Given the description of an element on the screen output the (x, y) to click on. 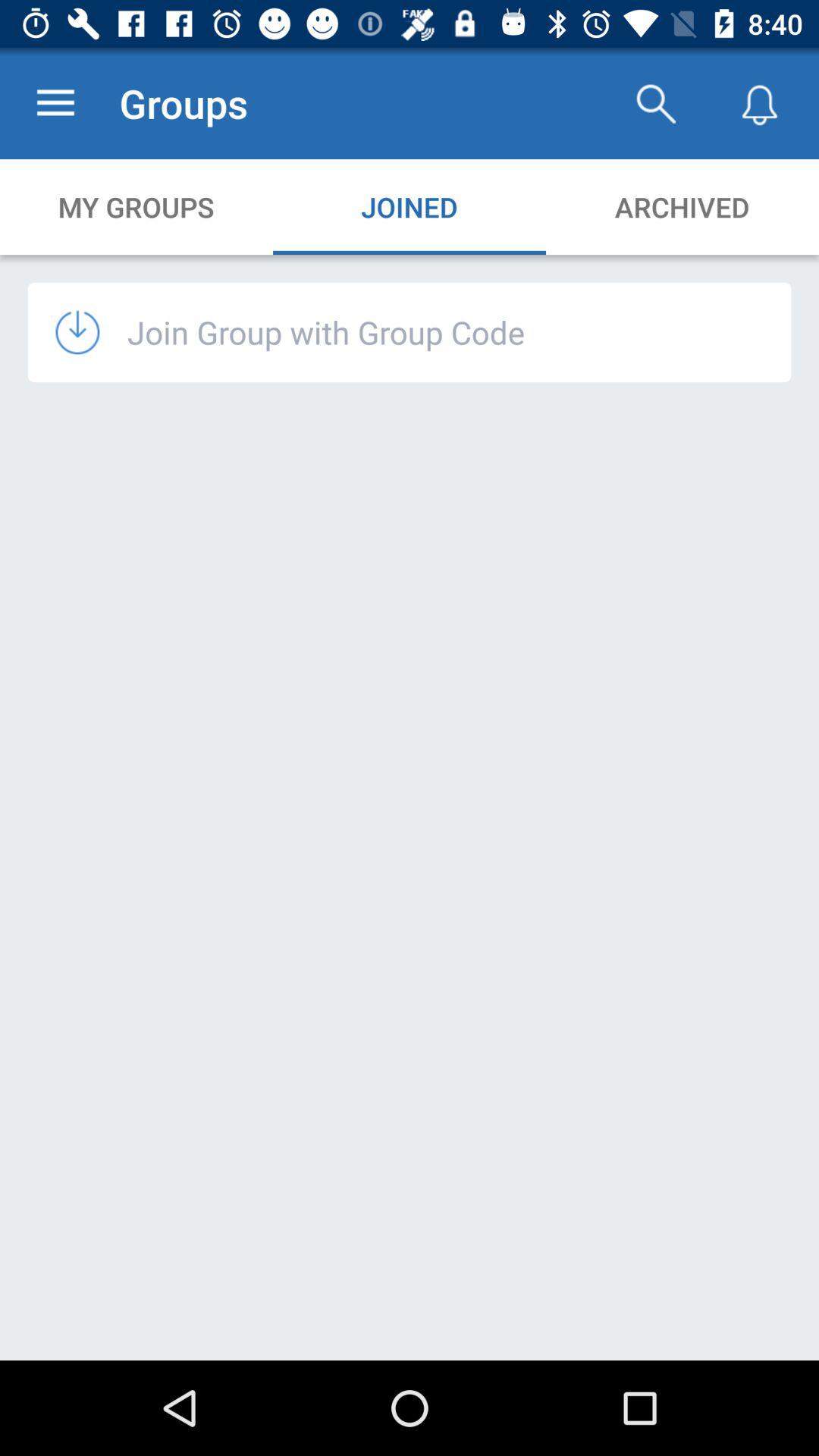
select the app to the right of groups icon (655, 103)
